Given the description of an element on the screen output the (x, y) to click on. 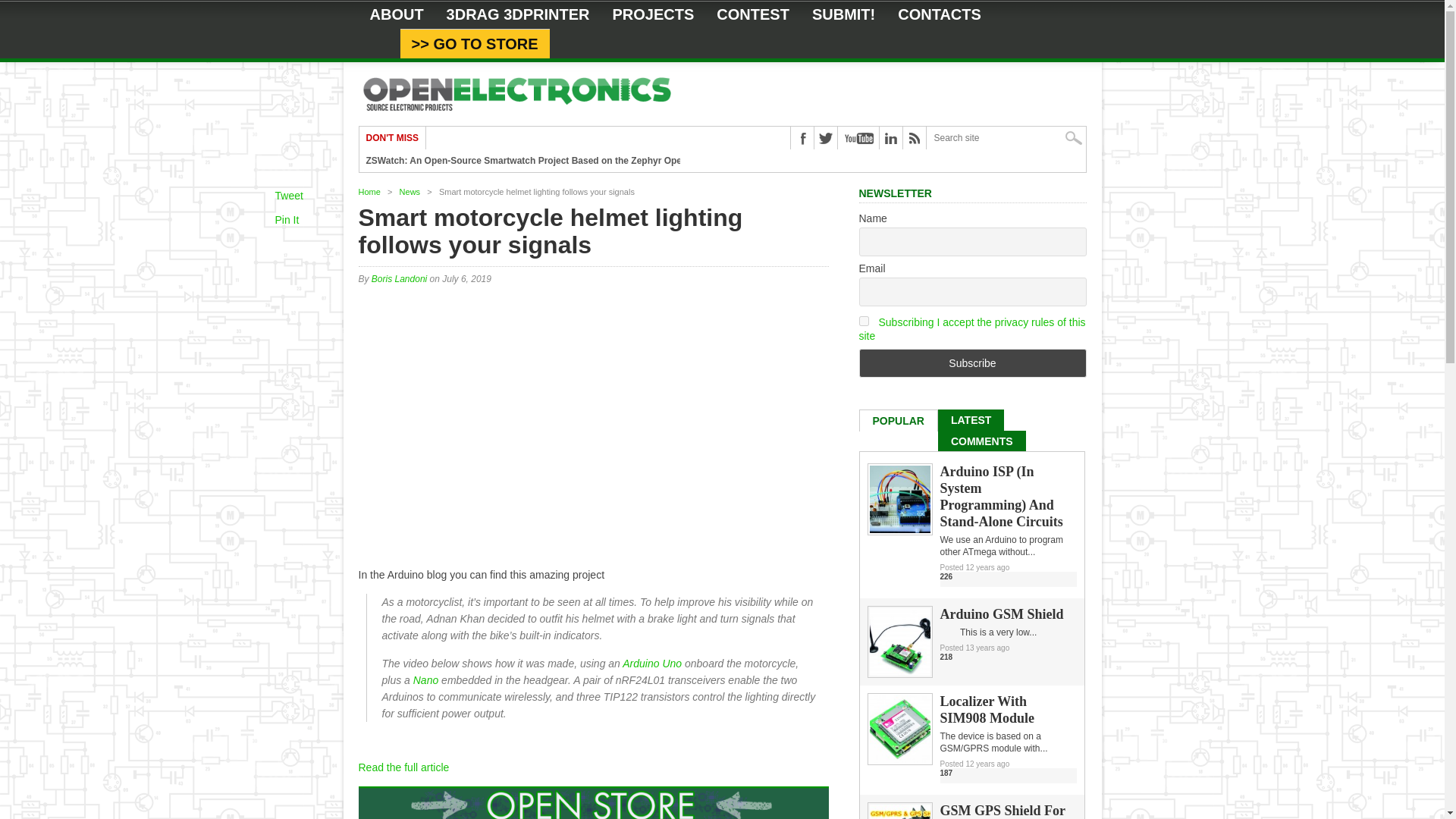
CONTEST (752, 13)
on (863, 320)
ABOUT (396, 13)
Tweet (288, 195)
SUBMIT! (843, 13)
Pin It (286, 219)
News (409, 191)
CONTACTS (939, 13)
Subscribe (972, 362)
Posts by Boris Landoni (398, 278)
Arduino Uno (652, 663)
Nano (425, 680)
Localizer with SIM908 module (899, 759)
Boris Landoni (398, 278)
